Given the description of an element on the screen output the (x, y) to click on. 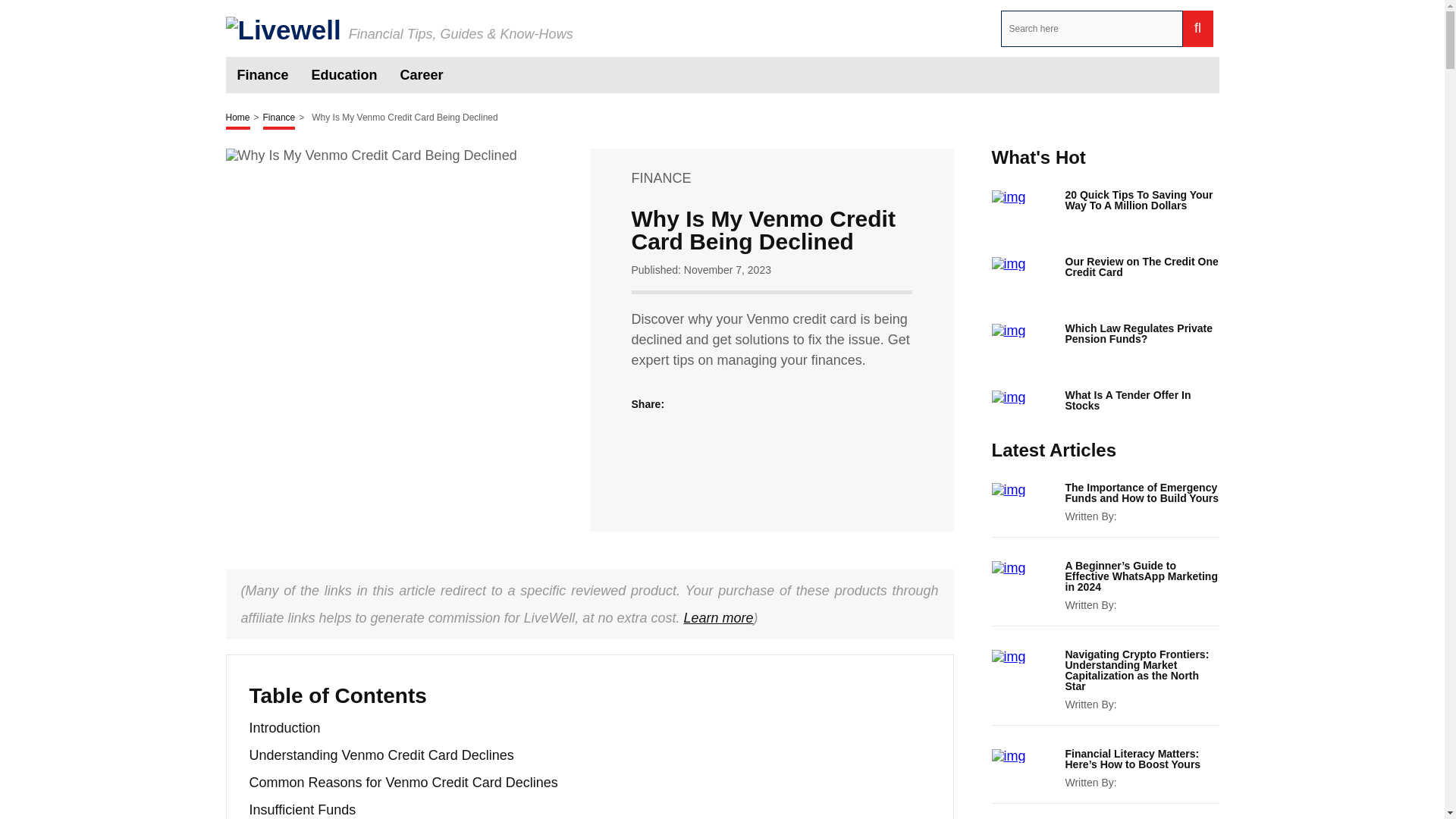
Insufficient Funds (301, 809)
Finance (279, 118)
Home (237, 118)
Our Review on The Credit One Credit Card (1141, 266)
The Importance of Emergency Funds and How to Build Yours (1141, 492)
Finance (262, 74)
Understanding Venmo Credit Card Declines (380, 754)
Which Law Regulates Private Pension Funds? (1141, 332)
Career (421, 74)
Learn more (717, 617)
